Given the description of an element on the screen output the (x, y) to click on. 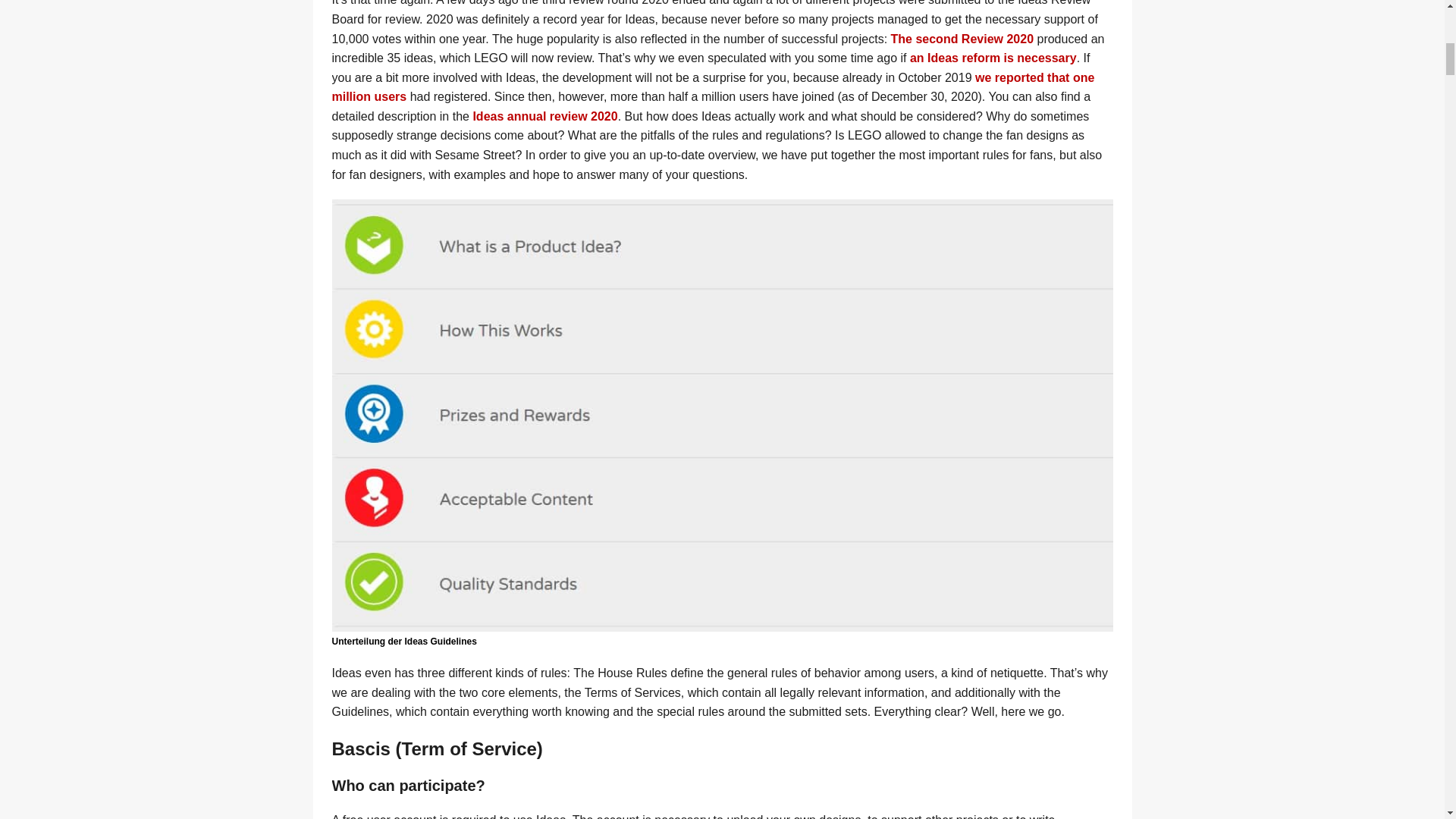
The second Review 2020 (962, 38)
we reported that one million users (712, 87)
Ideas annual review 2020 (544, 115)
an Ideas reform is necessary (993, 57)
